Given the description of an element on the screen output the (x, y) to click on. 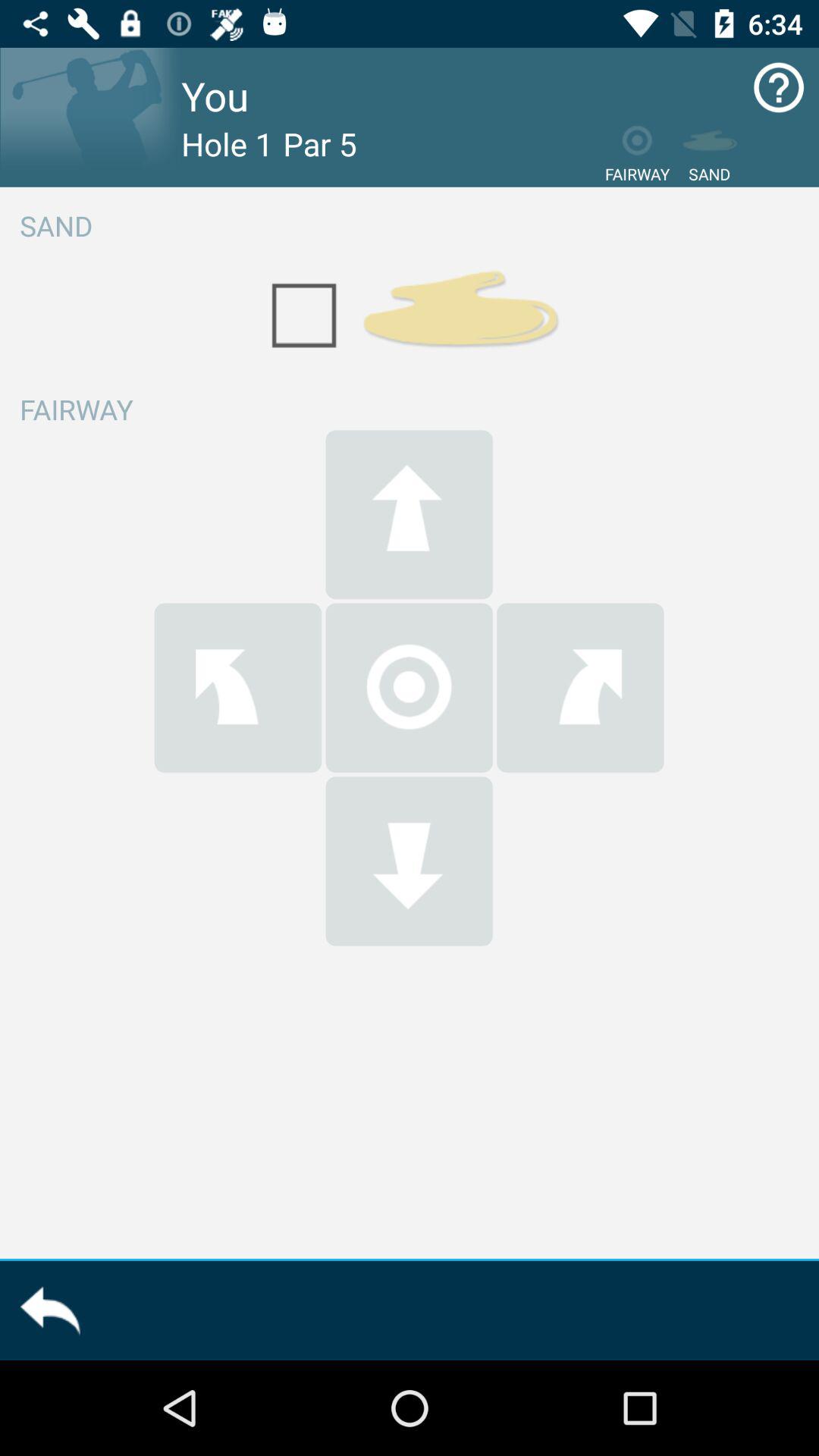
ball landed below hole (408, 861)
